Given the description of an element on the screen output the (x, y) to click on. 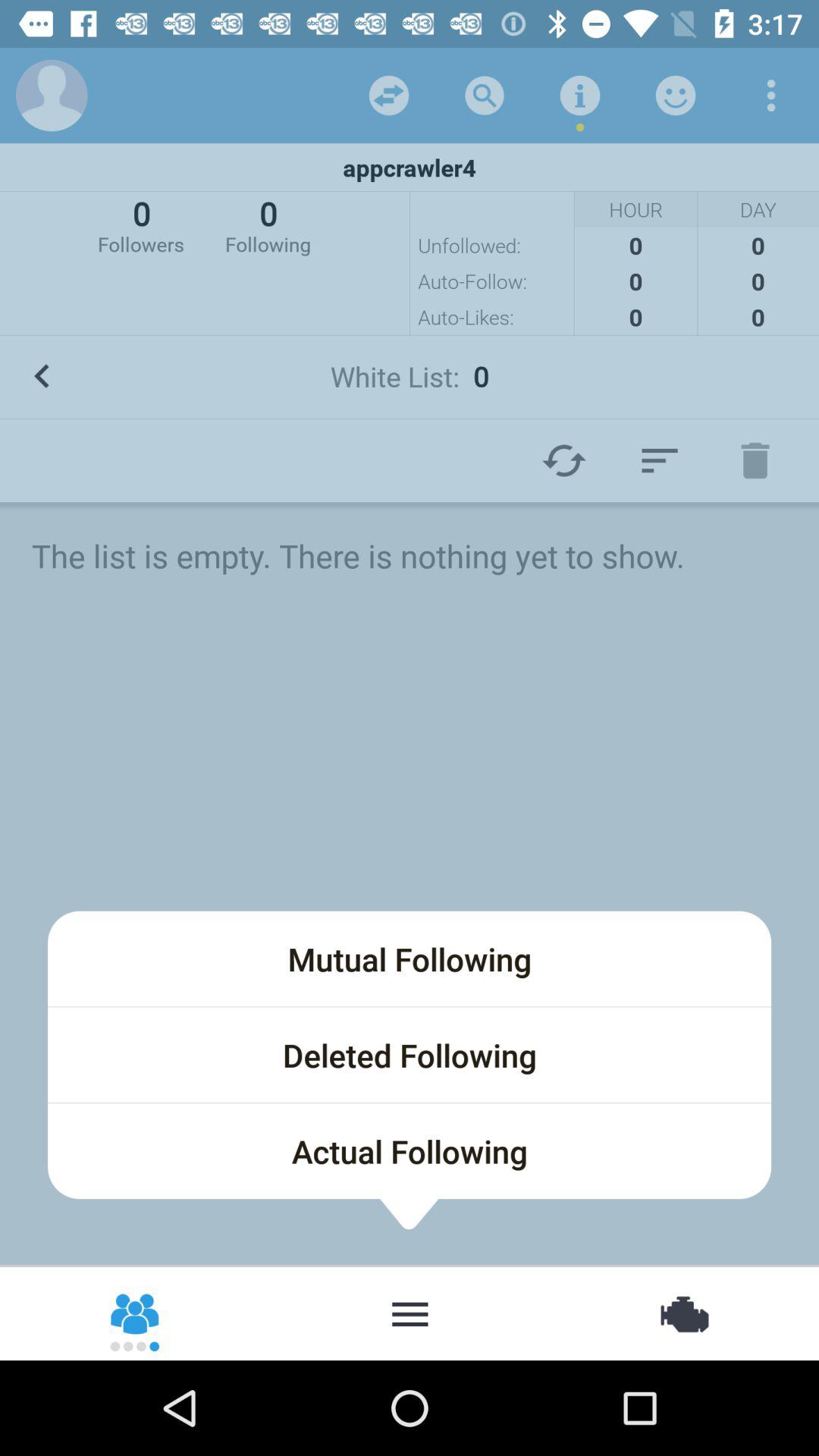
go back (41, 376)
